Given the description of an element on the screen output the (x, y) to click on. 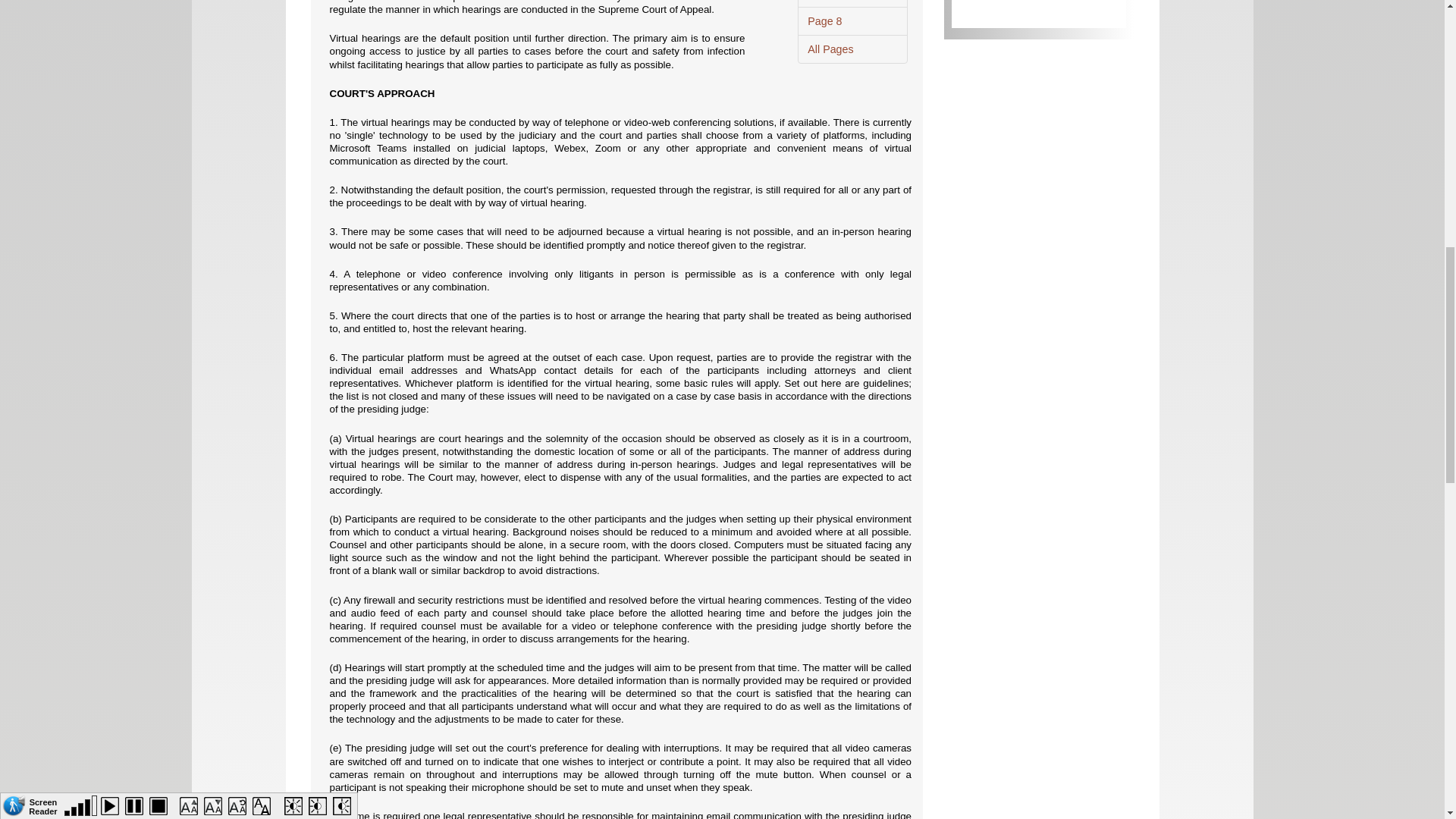
All Pages (852, 49)
Page 7 (852, 3)
Page 8 (852, 21)
